Given the description of an element on the screen output the (x, y) to click on. 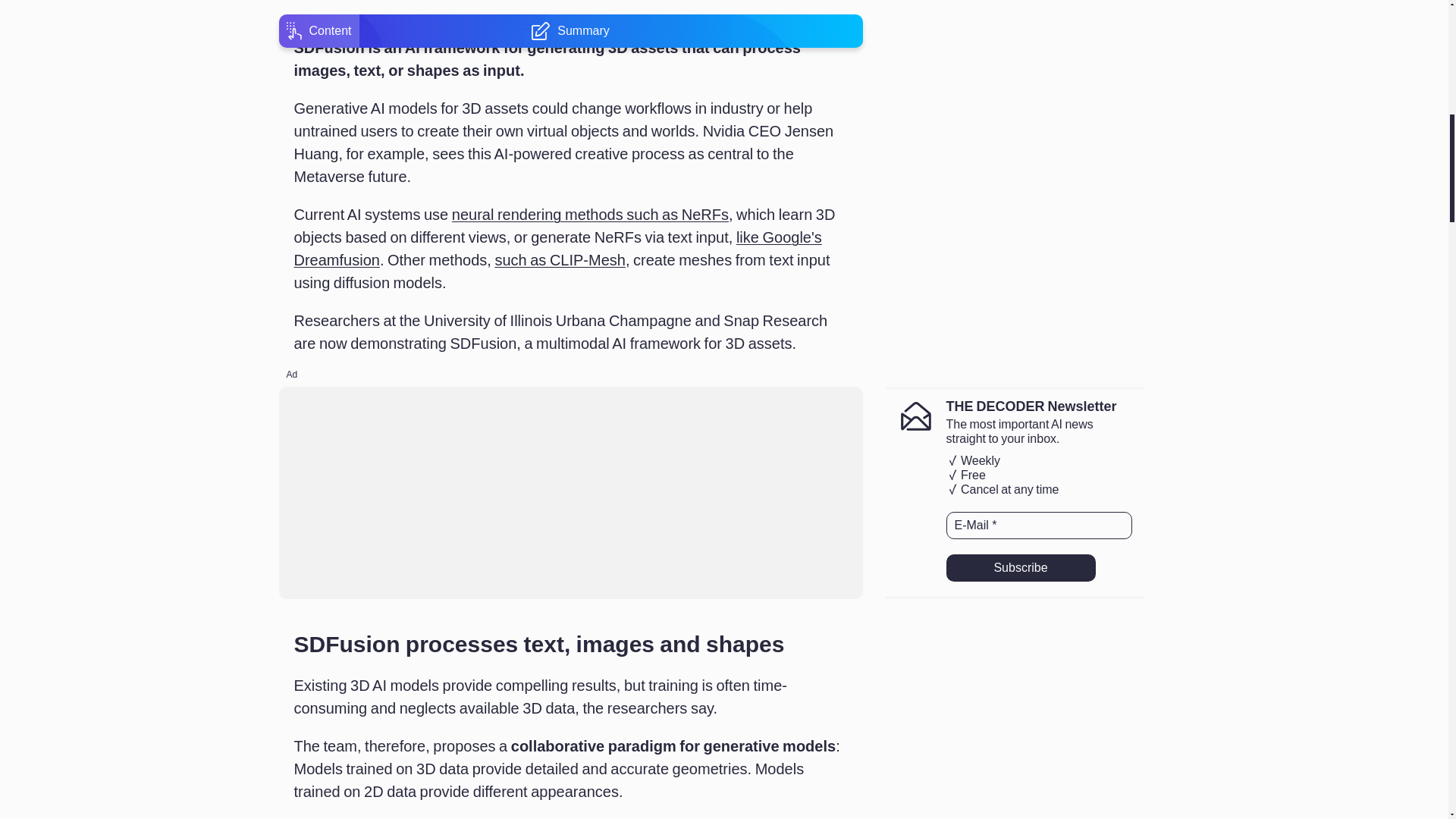
such as CLIP-Mesh (560, 259)
neural rendering methods such as NeRFs (590, 214)
E-Mail (1039, 524)
Subscribe (1021, 567)
Summary (569, 2)
Subscribe (1021, 567)
like Google's Dreamfusion (558, 248)
